Given the description of an element on the screen output the (x, y) to click on. 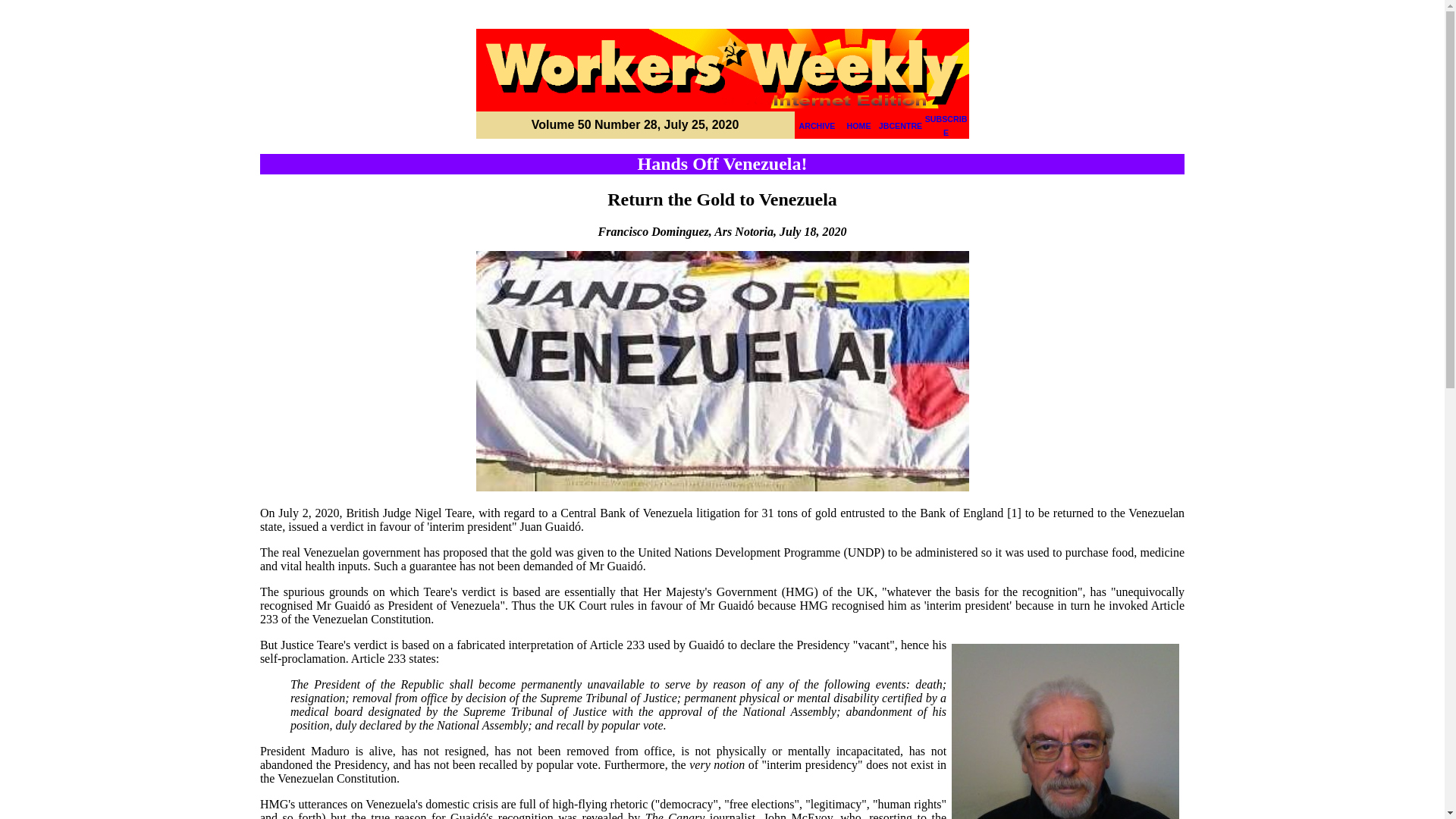
JBCENTRE (900, 125)
HOME (858, 125)
ARCHIVE (817, 125)
